Given the description of an element on the screen output the (x, y) to click on. 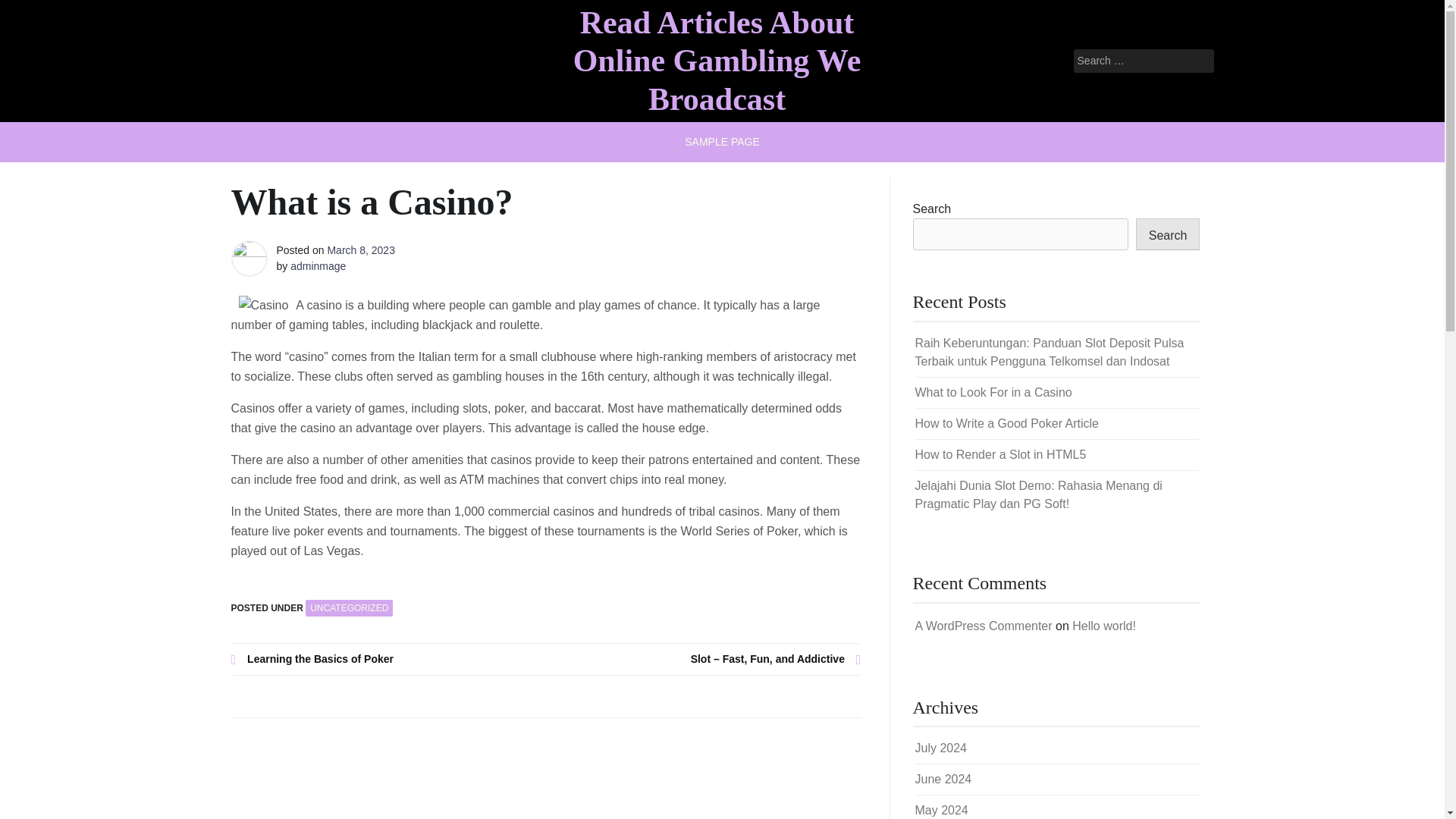
What to Look For in a Casino (992, 391)
A WordPress Commenter (982, 625)
Learning the Basics of Poker (388, 659)
Search (32, 12)
Search (1167, 234)
Read Articles About Online Gambling We Broadcast (717, 60)
UNCATEGORIZED (349, 607)
June 2024 (942, 779)
March 8, 2023 (360, 250)
How to Render a Slot in HTML5 (1000, 454)
SAMPLE PAGE (721, 142)
adminmage (317, 265)
How to Write a Good Poker Article (1005, 422)
July 2024 (940, 748)
